Given the description of an element on the screen output the (x, y) to click on. 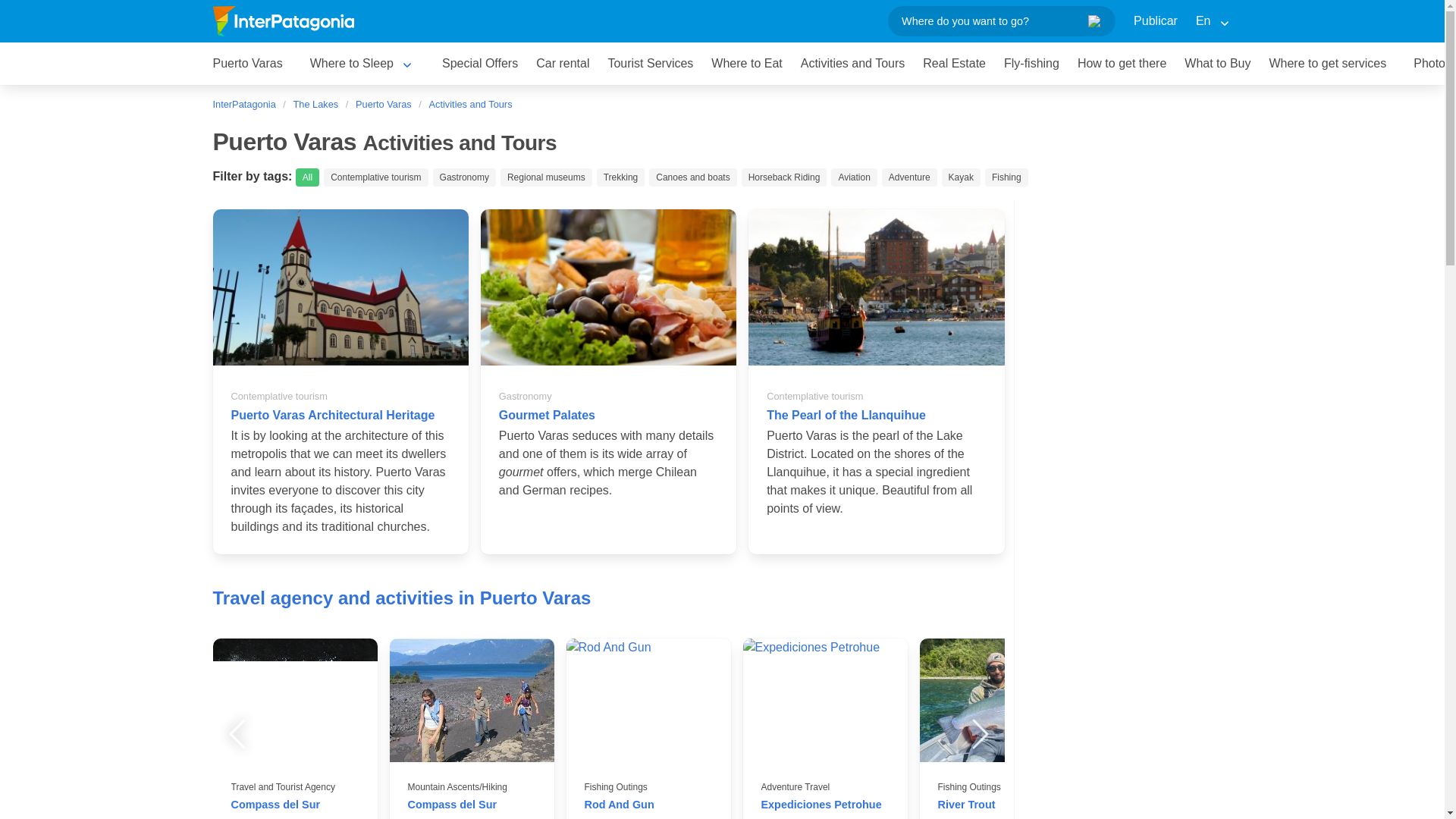
InterPatagonia (247, 104)
Photo Gallery (1430, 63)
The Lakes (315, 104)
Puerto Varas (383, 104)
Gastronomy (464, 177)
Activities and Tours (853, 63)
Regional museums (546, 177)
All (306, 177)
Publicar (1155, 21)
The Lakes (315, 104)
